Given the description of an element on the screen output the (x, y) to click on. 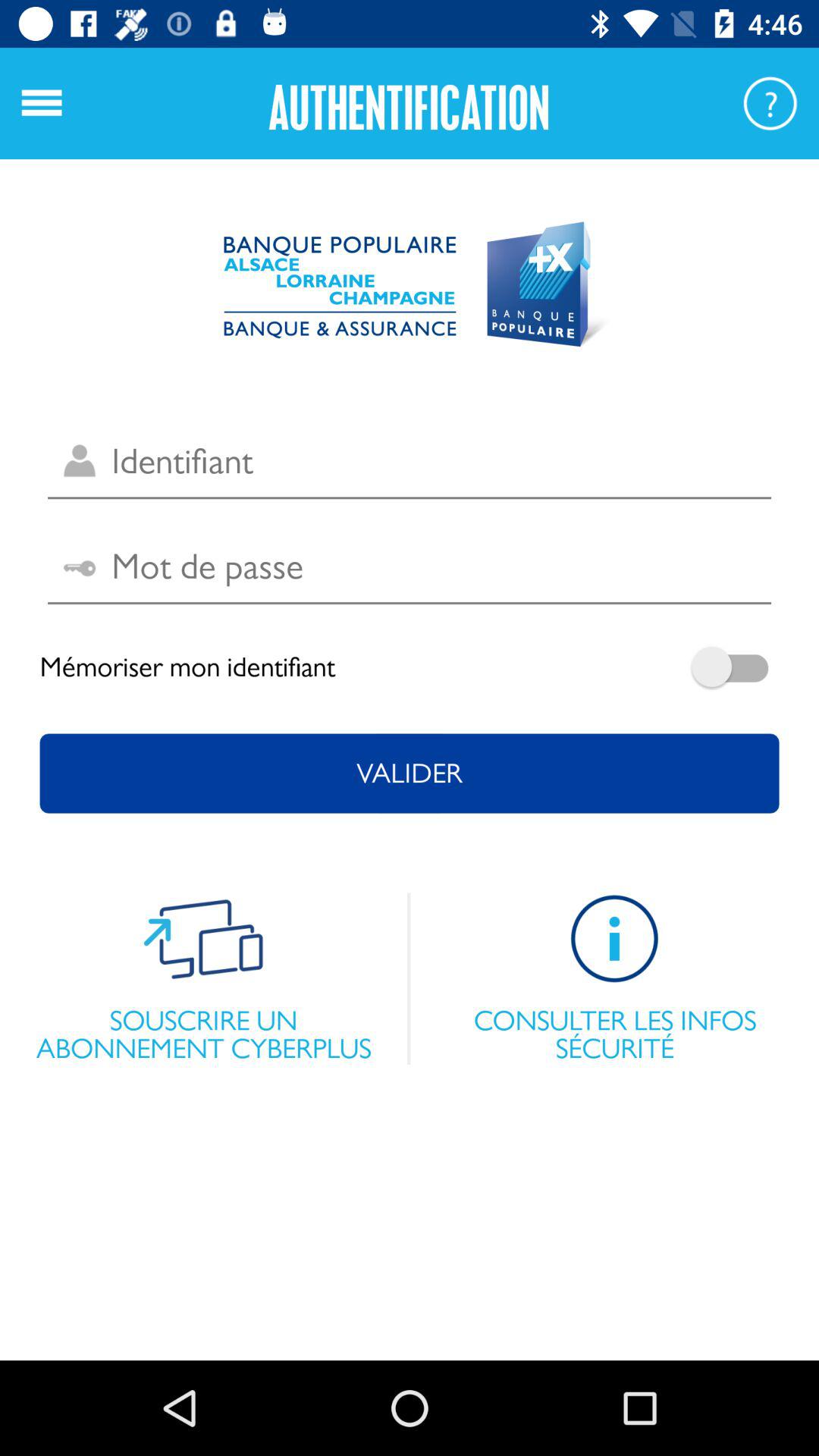
open menu (41, 103)
